Given the description of an element on the screen output the (x, y) to click on. 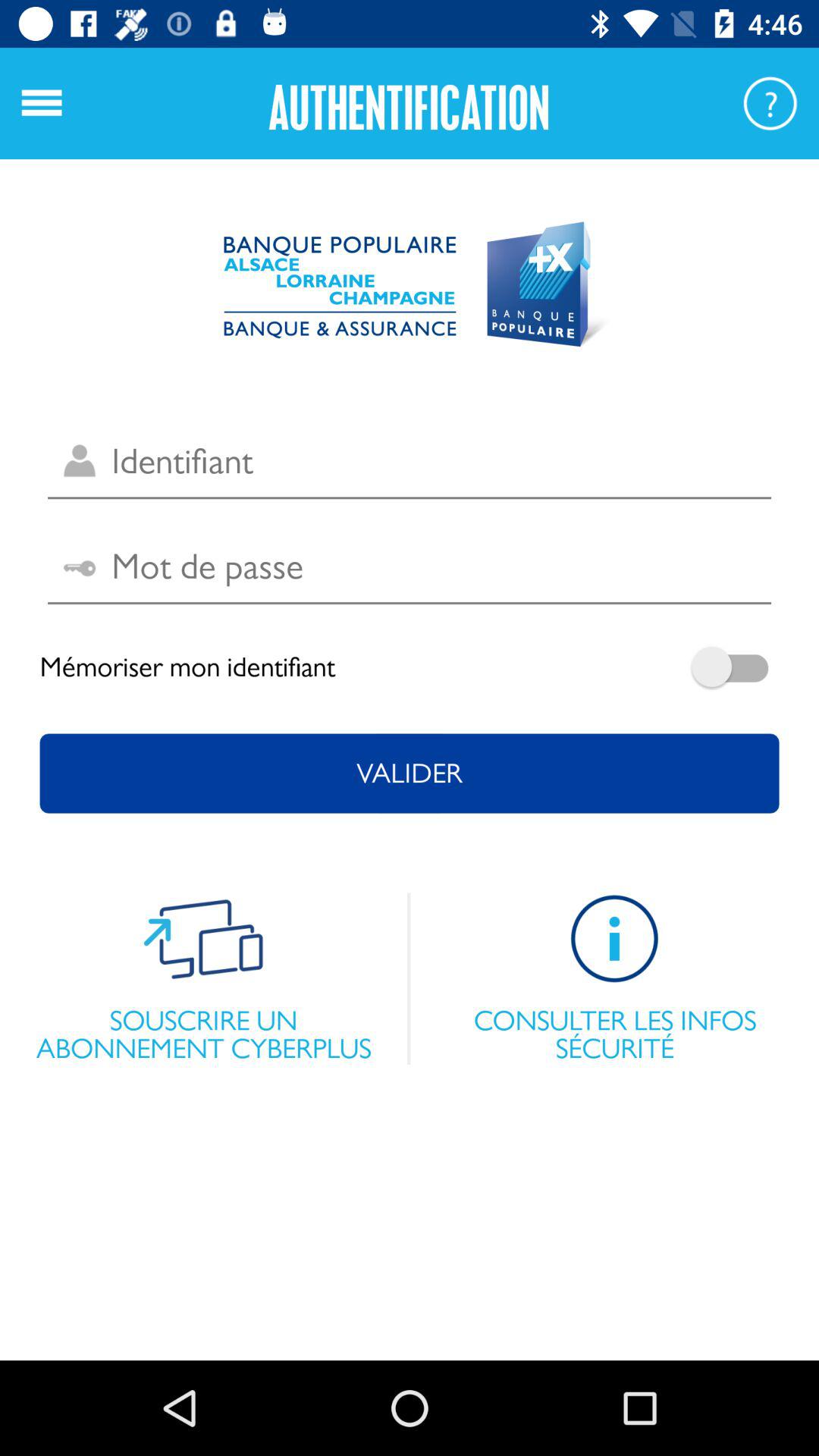
open menu (41, 103)
